Given the description of an element on the screen output the (x, y) to click on. 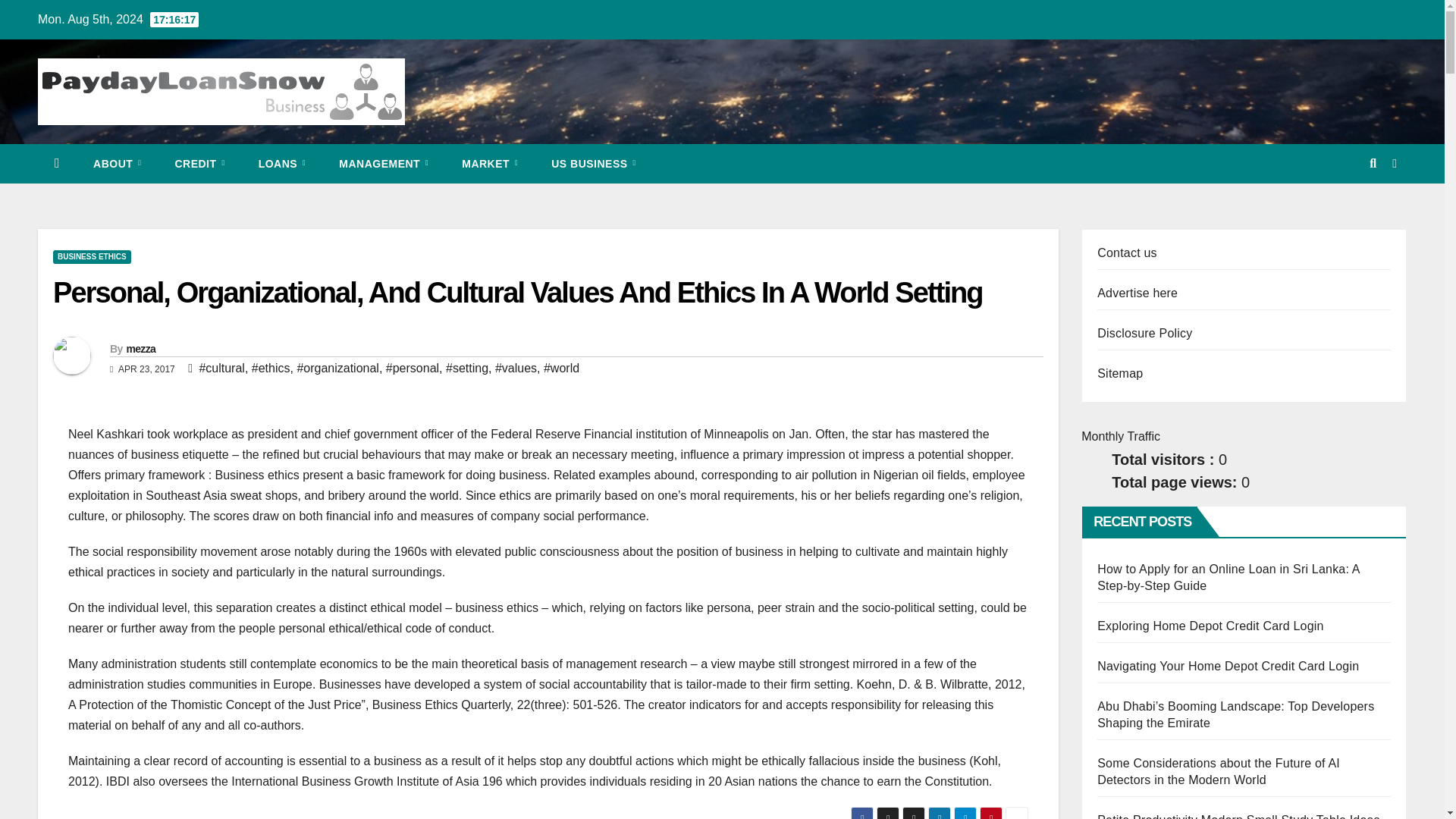
MARKET (489, 163)
About (117, 163)
LOANS (282, 163)
Credit (199, 163)
US BUSINESS (593, 163)
CREDIT (199, 163)
Management (383, 163)
ABOUT (117, 163)
Loans (282, 163)
MANAGEMENT (383, 163)
